Given the description of an element on the screen output the (x, y) to click on. 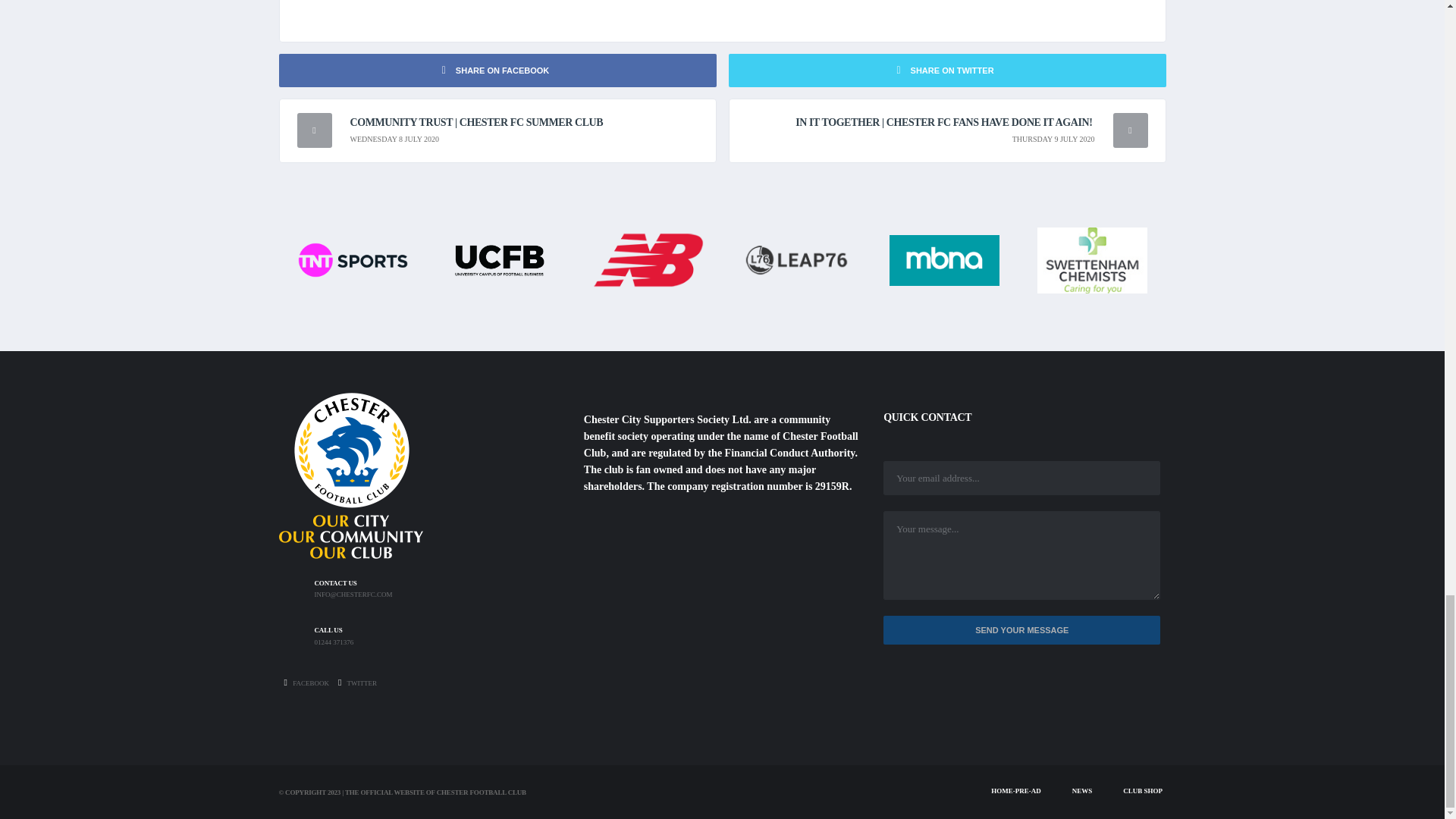
UCFB Logo (500, 258)
Send Your Message (1021, 630)
